Given the description of an element on the screen output the (x, y) to click on. 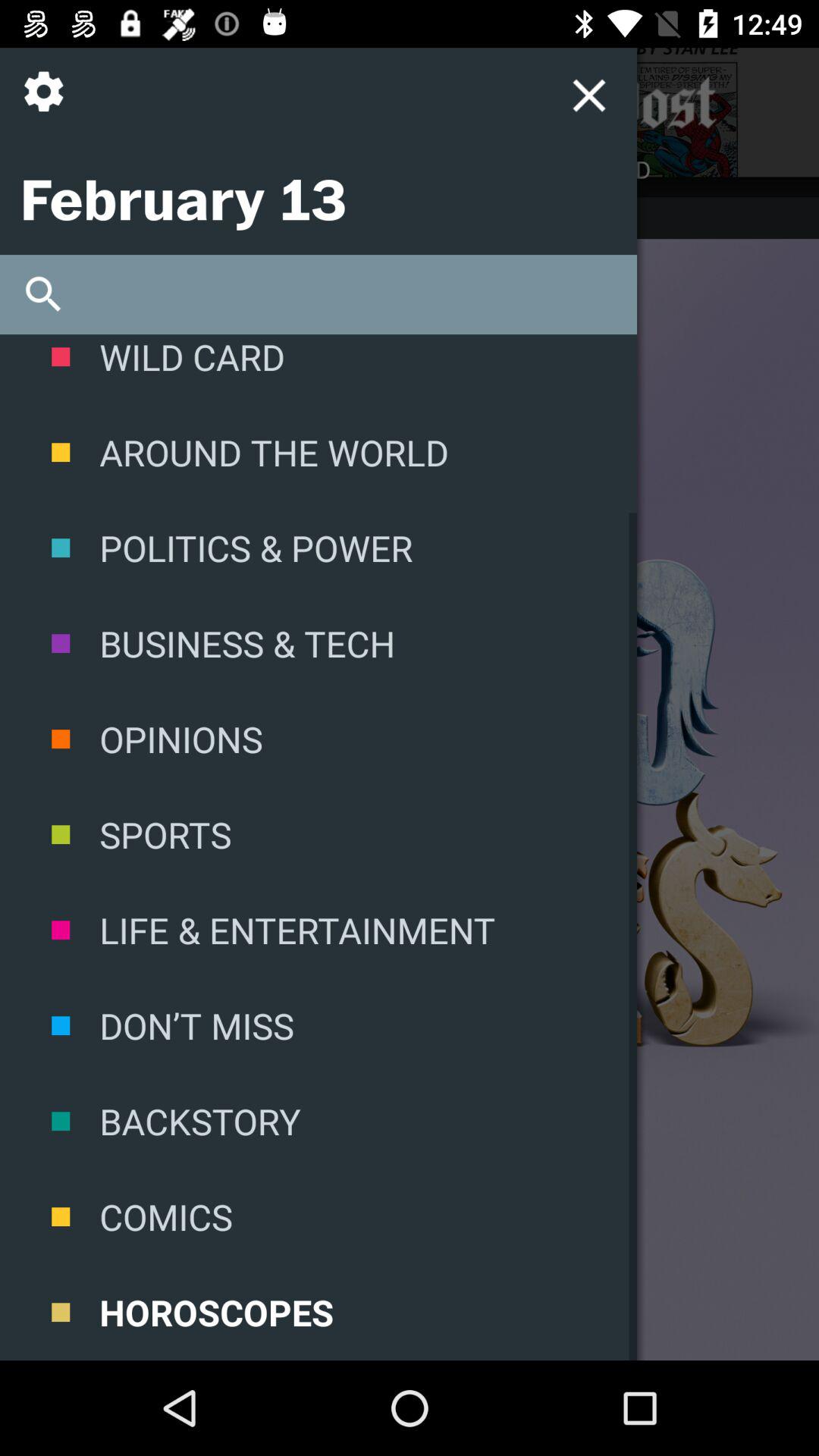
turn off the life & entertainment icon (318, 930)
